Given the description of an element on the screen output the (x, y) to click on. 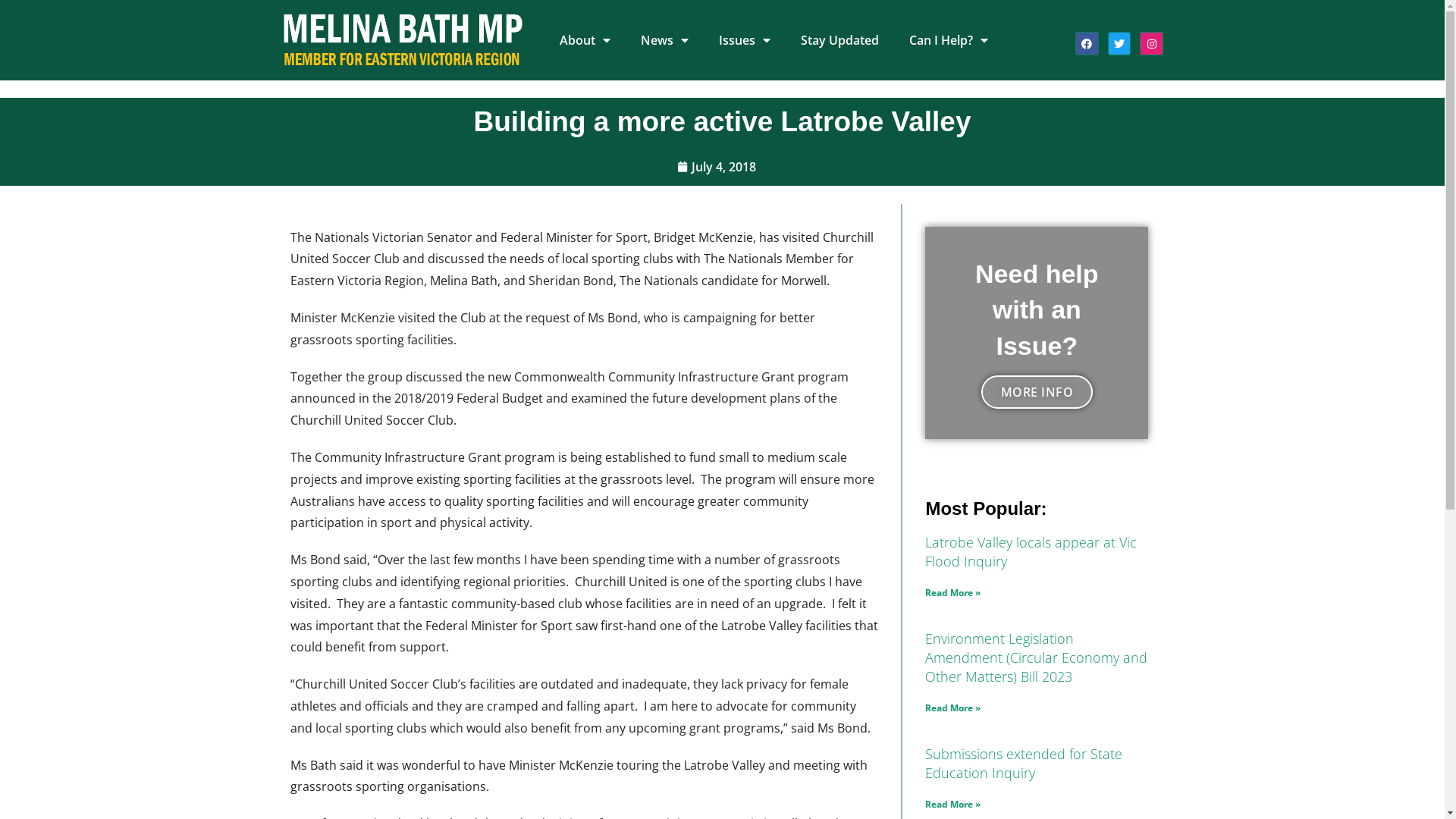
About Element type: text (584, 39)
Issues Element type: text (744, 39)
Latrobe Valley locals appear at Vic Flood Inquiry Element type: text (1030, 551)
Submissions extended for State Education Inquiry Element type: text (1023, 762)
Need help with an Issue?
MORE INFO Element type: text (1036, 332)
July 4, 2018 Element type: text (715, 167)
Can I Help? Element type: text (948, 39)
News Element type: text (664, 39)
Stay Updated Element type: text (839, 39)
